Given the description of an element on the screen output the (x, y) to click on. 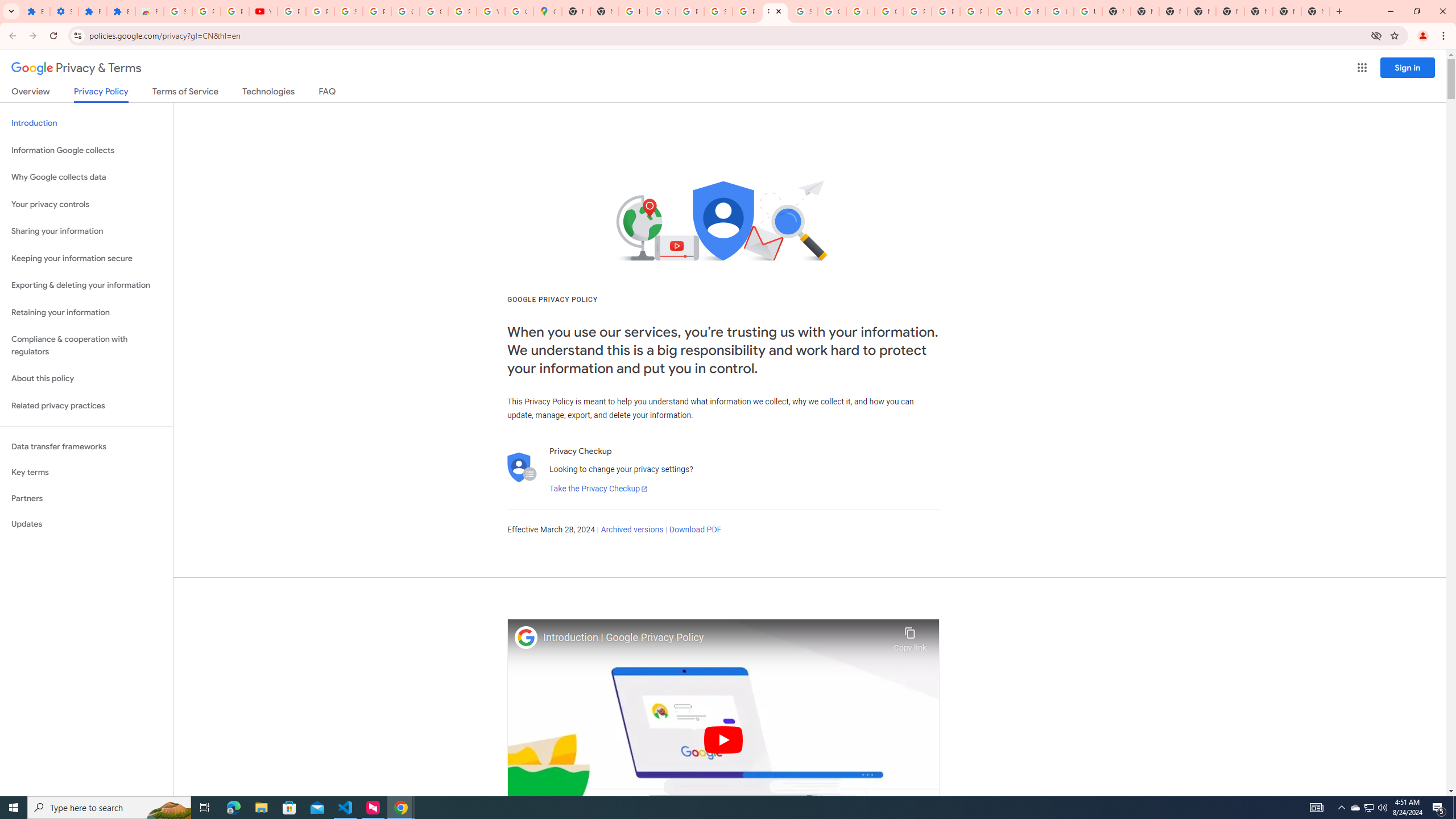
YouTube (263, 11)
Extensions (35, 11)
Photo image of Google (526, 636)
Extensions (120, 11)
Copy link (909, 636)
Related privacy practices (86, 405)
